Given the description of an element on the screen output the (x, y) to click on. 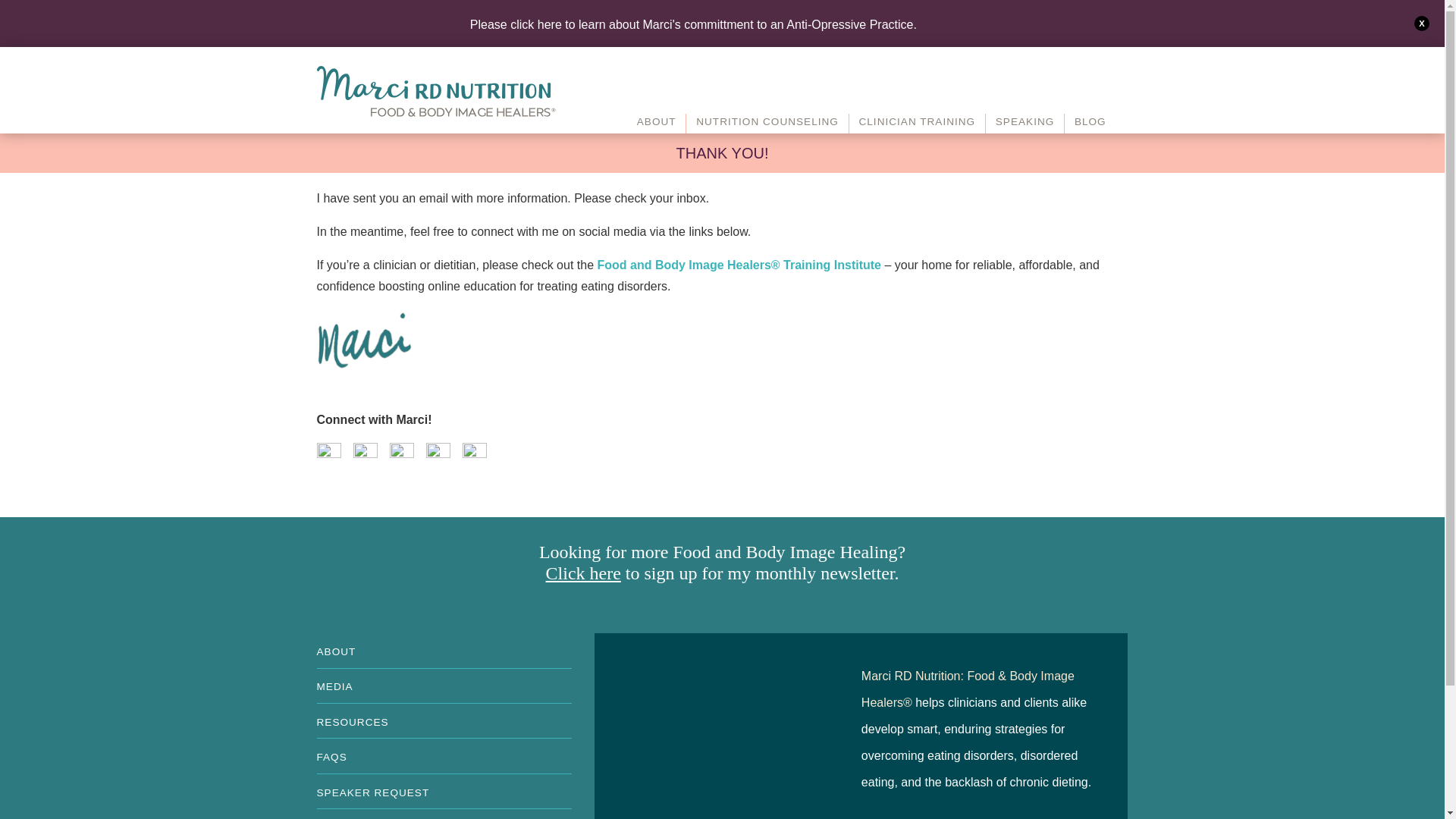
SPEAKER REQUEST (444, 790)
CLINICIAN TRAINING (916, 123)
SPEAKING (1024, 123)
Marci R.D. (438, 91)
MEDIA (444, 685)
BLOG (1089, 123)
NUTRITION COUNSELING (766, 123)
ABOUT (656, 123)
RESOURCES (444, 720)
ABOUT (444, 650)
FAQS (444, 755)
CONTACT US (444, 814)
Click here (583, 573)
